Given the description of an element on the screen output the (x, y) to click on. 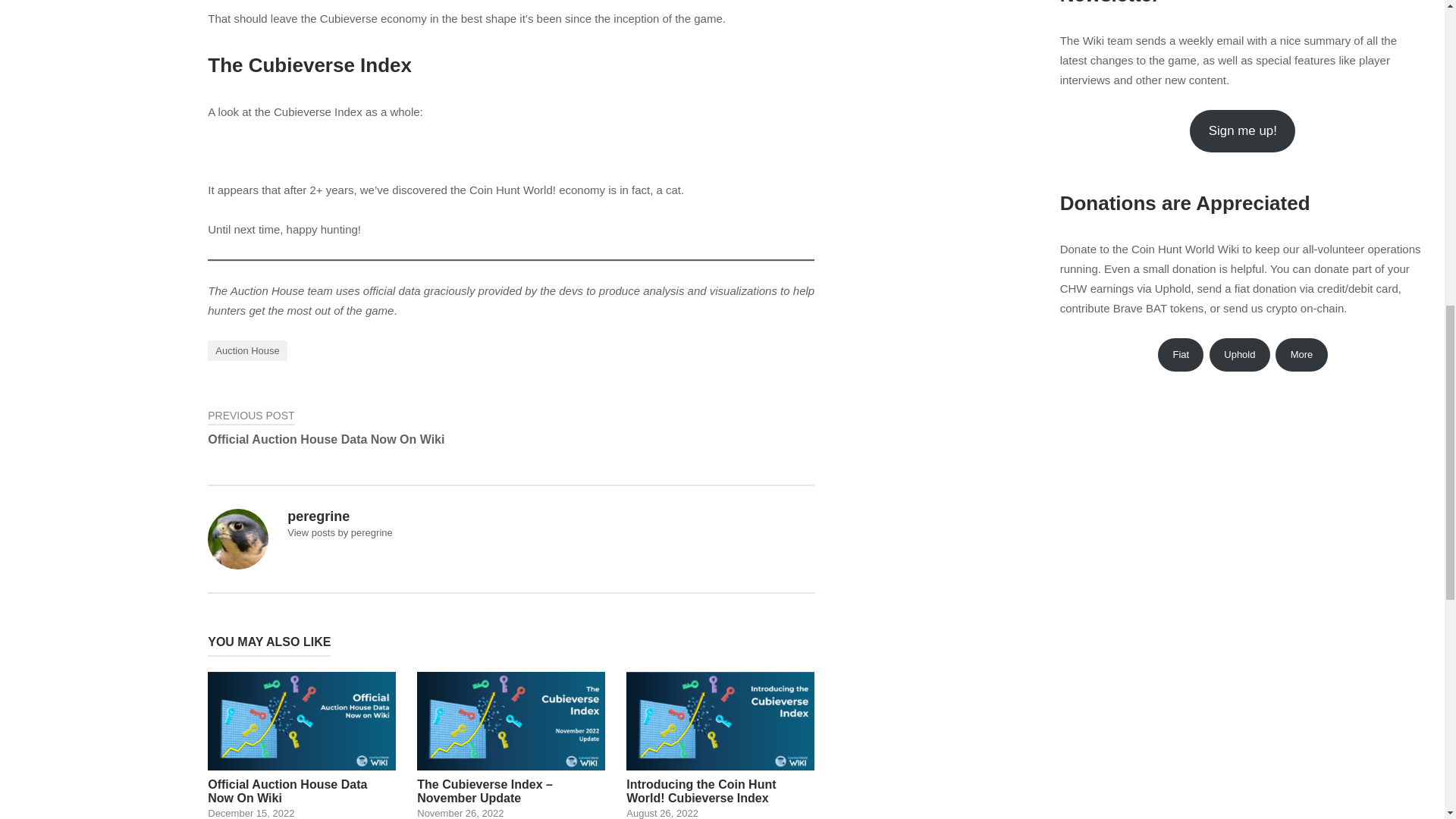
Auction House (247, 350)
Official Auction House Data Now On Wiki (302, 745)
Introducing the Coin Hunt World! Cubieverse Index (719, 745)
